Given the description of an element on the screen output the (x, y) to click on. 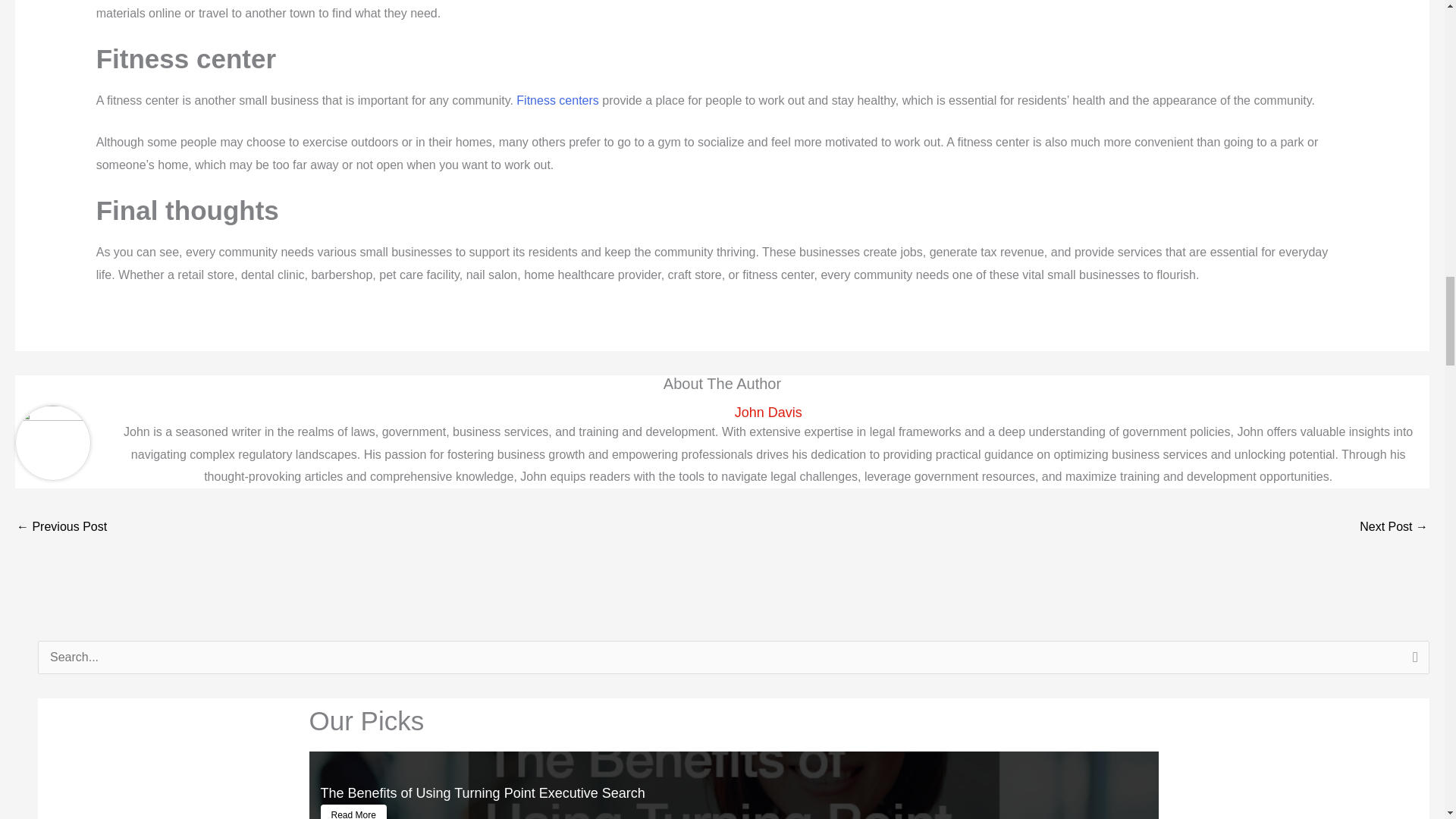
How do Small Businesses Contribute to the Economy (1393, 528)
Read More (352, 811)
The Benefits of Using Turning Point Executive Search (482, 792)
John Davis (767, 412)
Fitness centers (557, 100)
How to Make Your Business Technology Last Longer (61, 528)
